Given the description of an element on the screen output the (x, y) to click on. 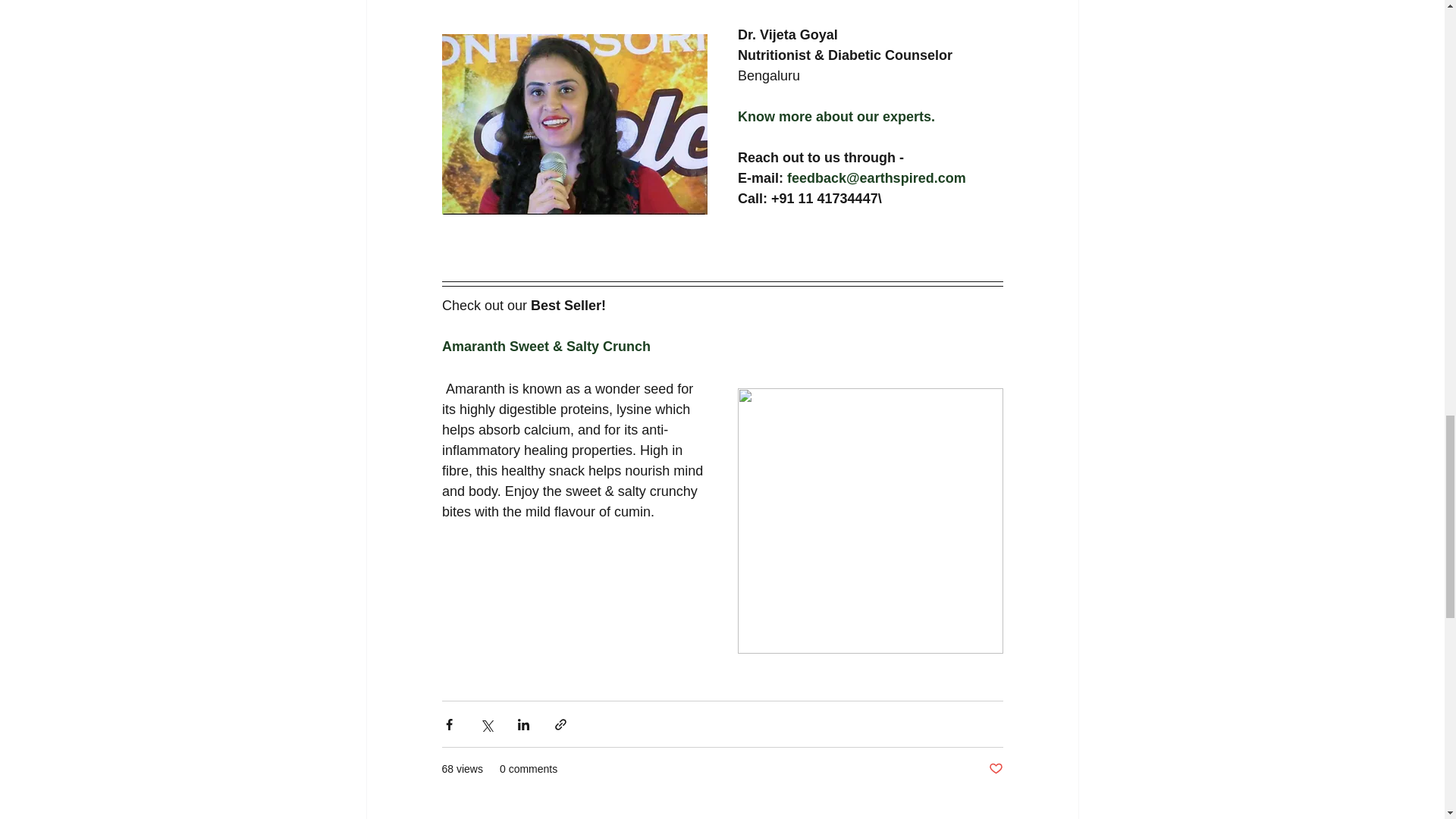
Know more about our experts. (835, 116)
Post not marked as liked (995, 769)
